Given the description of an element on the screen output the (x, y) to click on. 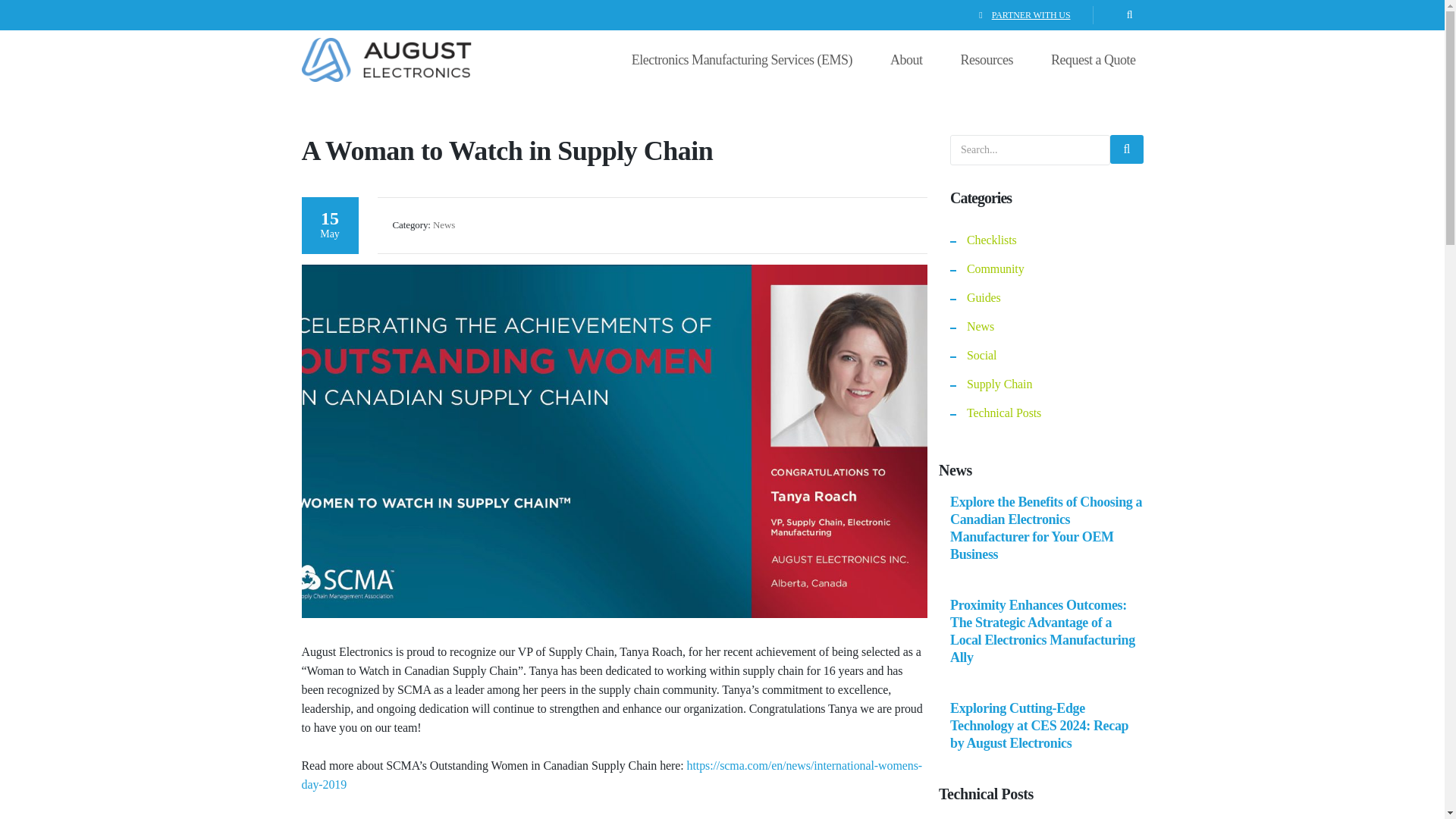
About (906, 58)
PARTNER WITH US (1030, 14)
August Electronics logo (386, 58)
